Given the description of an element on the screen output the (x, y) to click on. 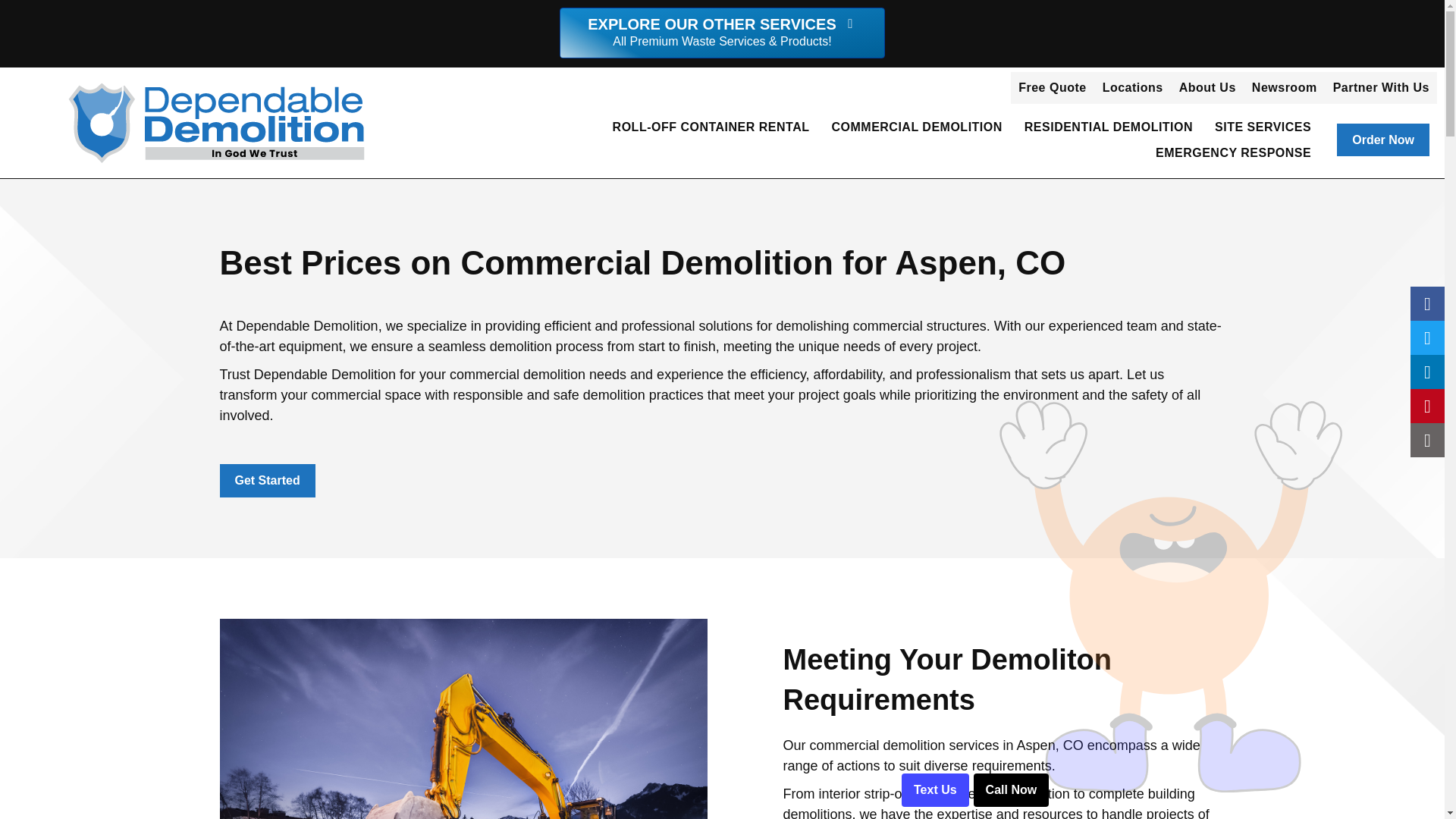
Locations (1132, 88)
RESIDENTIAL DEMOLITION (1108, 127)
About Us (1207, 88)
Partner With Us (1380, 88)
COMMERCIAL DEMOLITION (916, 127)
demolition (463, 719)
SITE SERVICES (1263, 127)
Newsroom (1284, 88)
ROLL-OFF CONTAINER RENTAL (711, 127)
Order Now (1382, 139)
Dep Demo Logo (216, 122)
EMERGENCY RESPONSE (1233, 153)
Get Started (267, 480)
Free Quote (1051, 88)
